Given the description of an element on the screen output the (x, y) to click on. 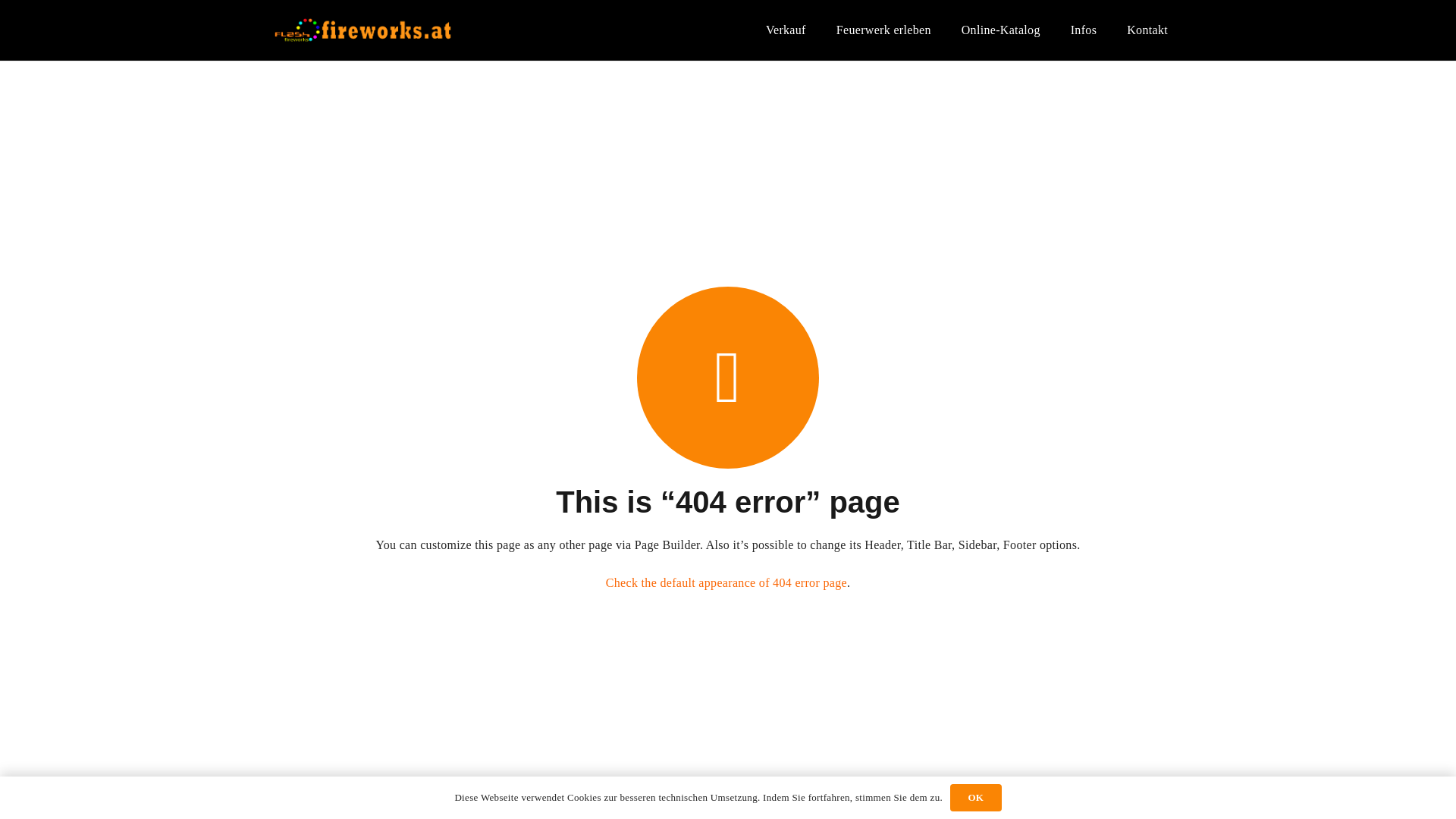
Online-Katalog (1000, 30)
OK (975, 797)
Feuerwerk erleben (883, 30)
Verkauf (786, 30)
Infos (1083, 30)
Check the default appearance of 404 error page (726, 582)
Kontakt (1147, 30)
